Given the description of an element on the screen output the (x, y) to click on. 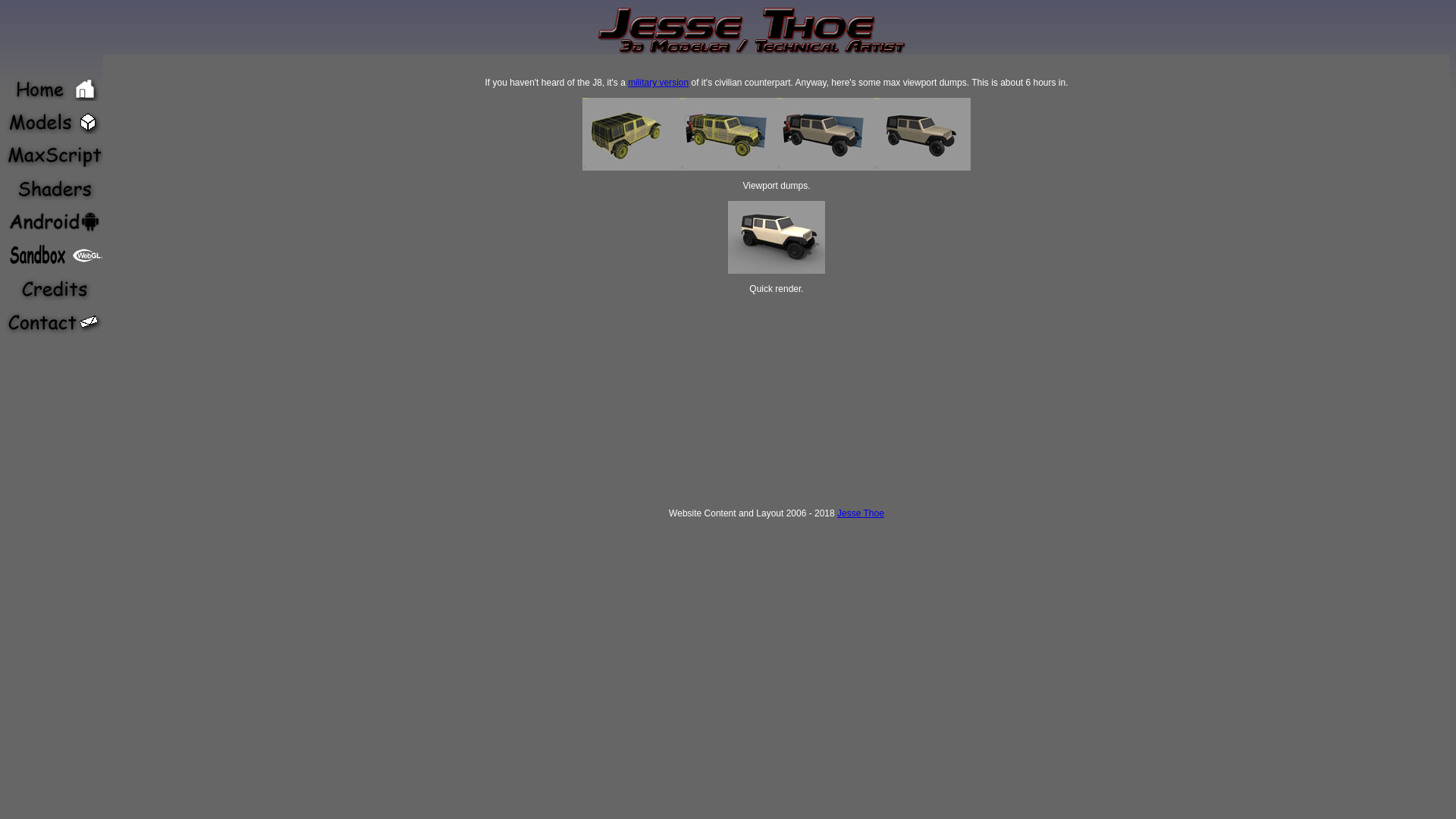
Jesse Thoe Element type: text (860, 513)
military version Element type: text (657, 82)
